Given the description of an element on the screen output the (x, y) to click on. 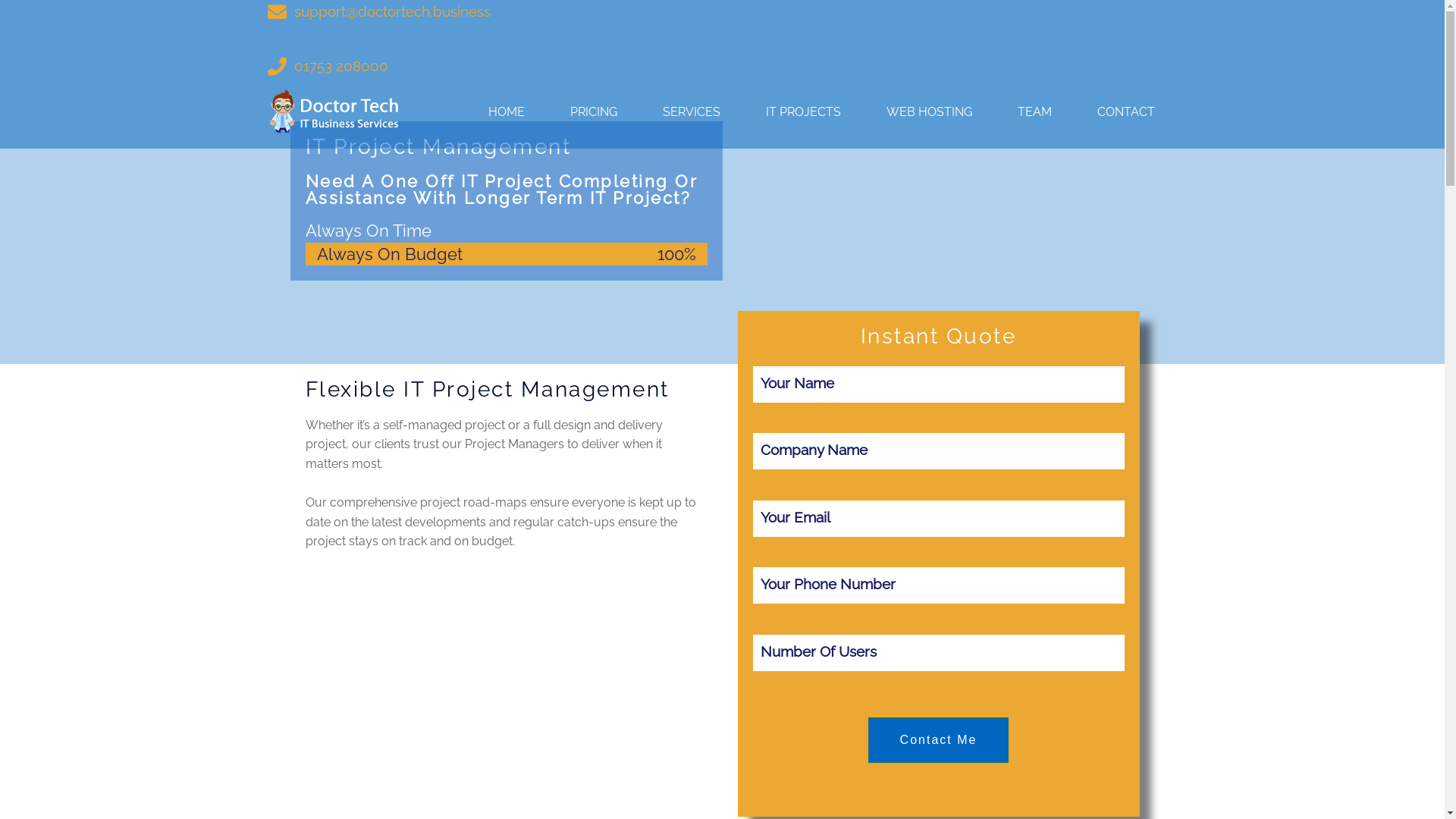
support@doctortech.business Element type: text (377, 10)
HOME Element type: text (506, 111)
TEAM Element type: text (1034, 111)
SERVICES Element type: text (691, 111)
01753 208000 Element type: text (326, 65)
Contact Me Element type: text (938, 739)
CONTACT Element type: text (1124, 111)
IT PROJECTS Element type: text (803, 111)
WEB HOSTING Element type: text (928, 111)
PRICING Element type: text (593, 111)
